Given the description of an element on the screen output the (x, y) to click on. 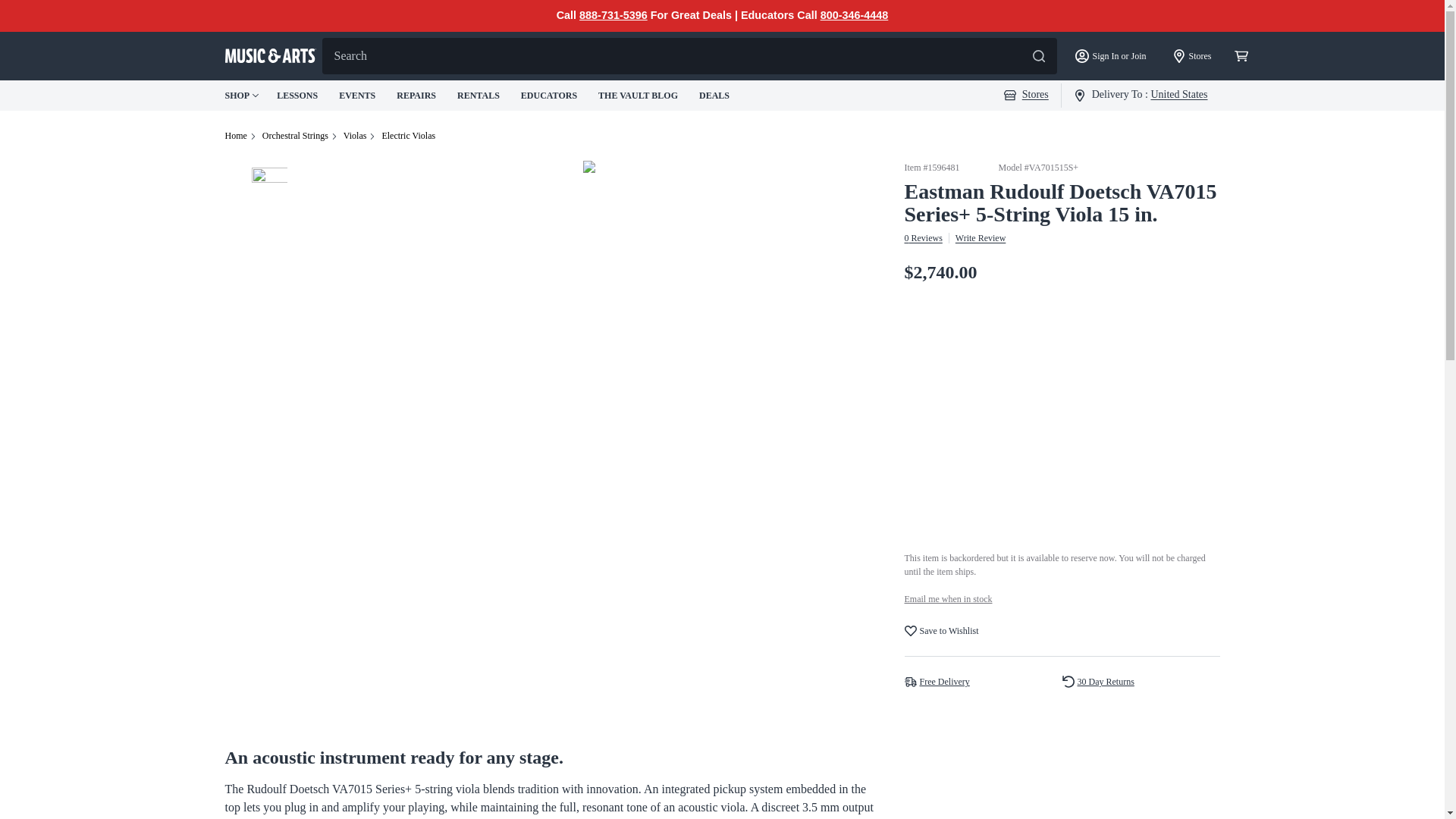
RENTALS (479, 94)
800-346-4448 (854, 15)
Electric Violas (408, 135)
Stores (1191, 55)
THE VAULT BLOG (639, 94)
Email me when in stock (947, 598)
Home (235, 135)
30 Day Returns (1105, 681)
SHOP (241, 95)
Orchestral Strings (295, 135)
EVENTS (358, 94)
Write Review (980, 237)
LESSONS (298, 94)
Delivery To : United States (1140, 94)
Sign In or Join (1110, 55)
